Given the description of an element on the screen output the (x, y) to click on. 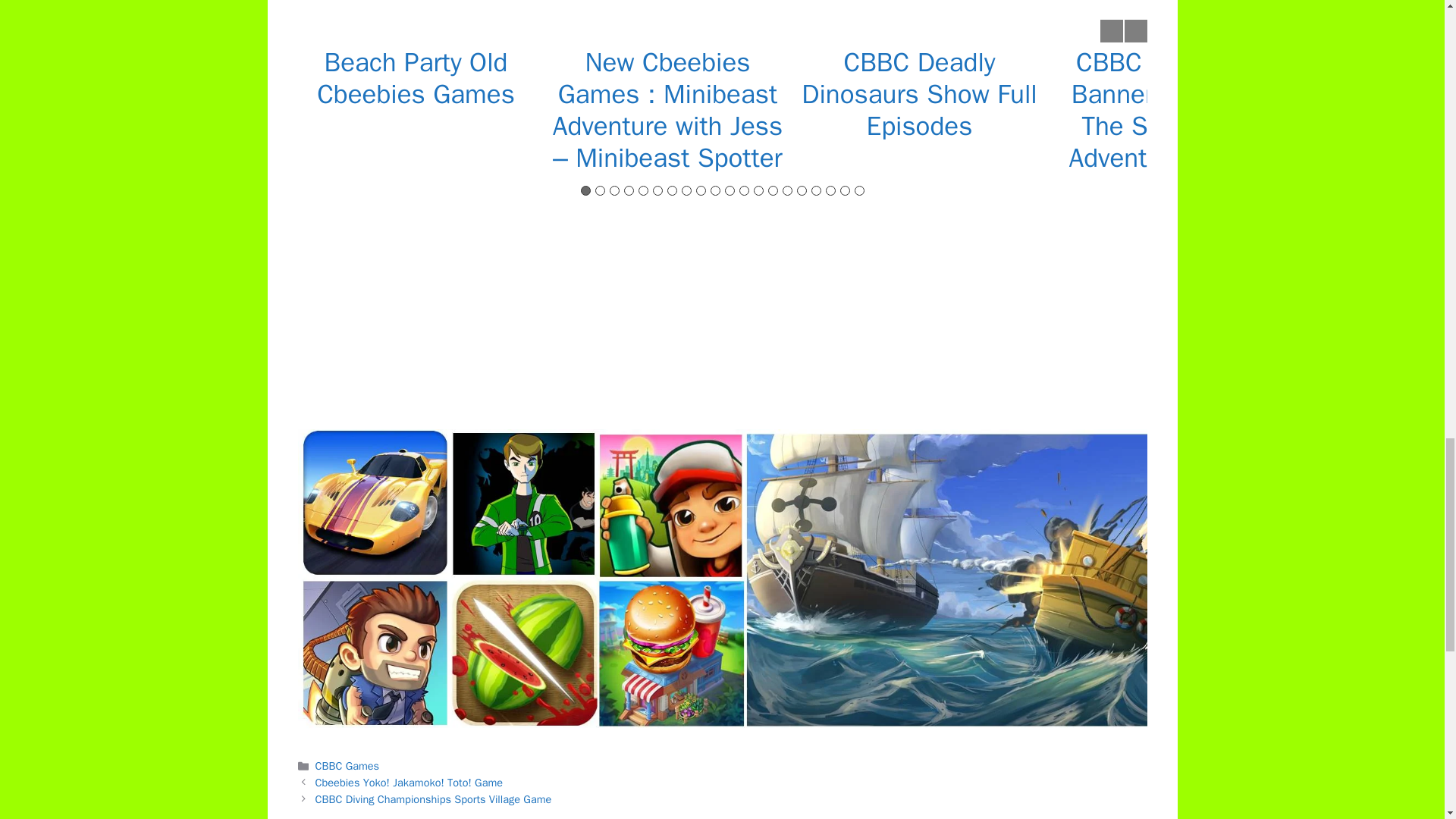
CBBC Deadly Dinosaurs Show Full Episodes (919, 93)
Beach Party Old Cbeebies Games (416, 77)
CBBC Defending Bannerman Road The Sarah Jane Adventures Game (1171, 109)
Previous (1110, 30)
